Given the description of an element on the screen output the (x, y) to click on. 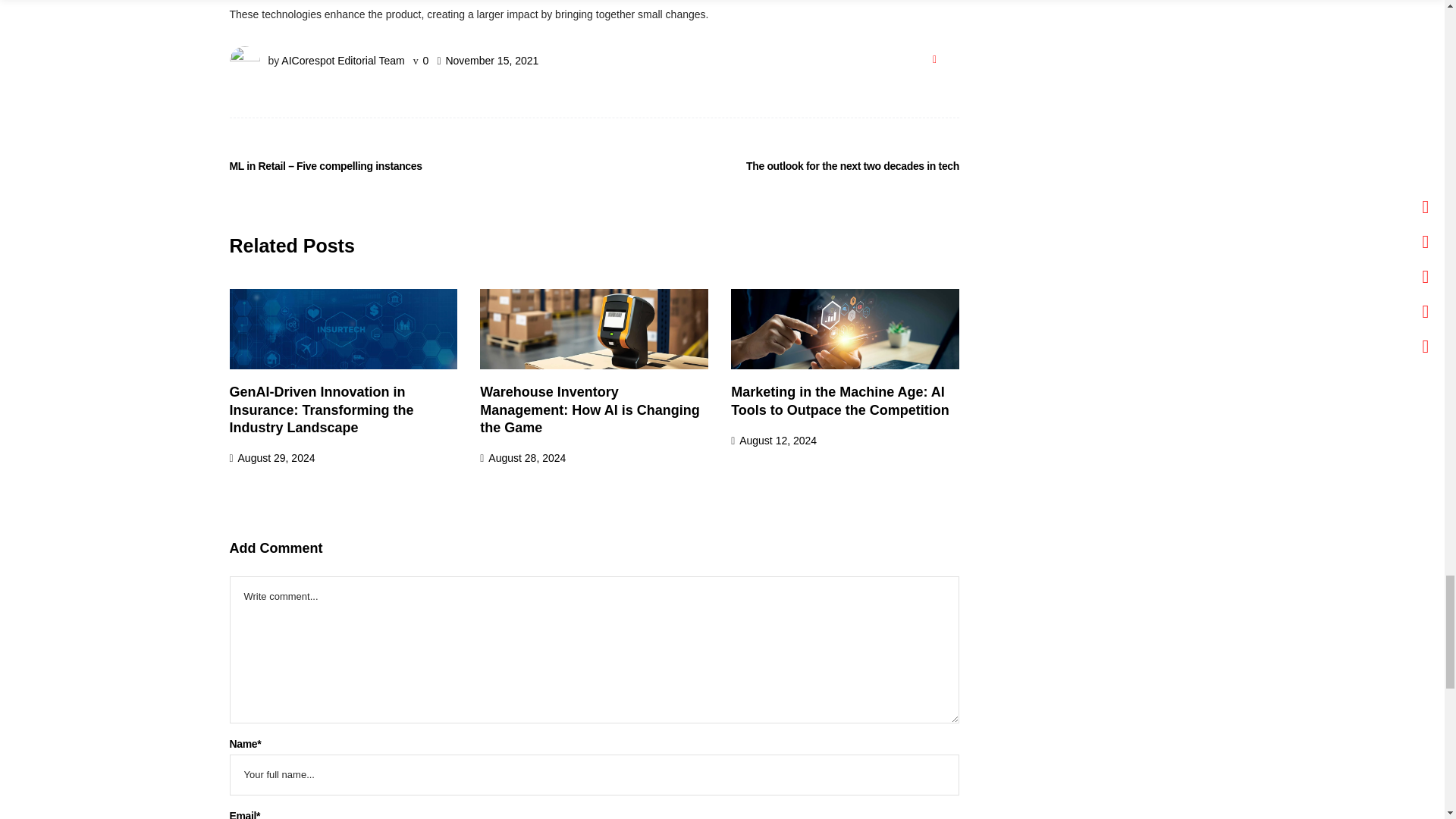
Warehouse Inventory Management: How AI is Changing the Game (593, 328)
Warehouse Inventory Management: How AI is Changing the Game (589, 409)
